Given the description of an element on the screen output the (x, y) to click on. 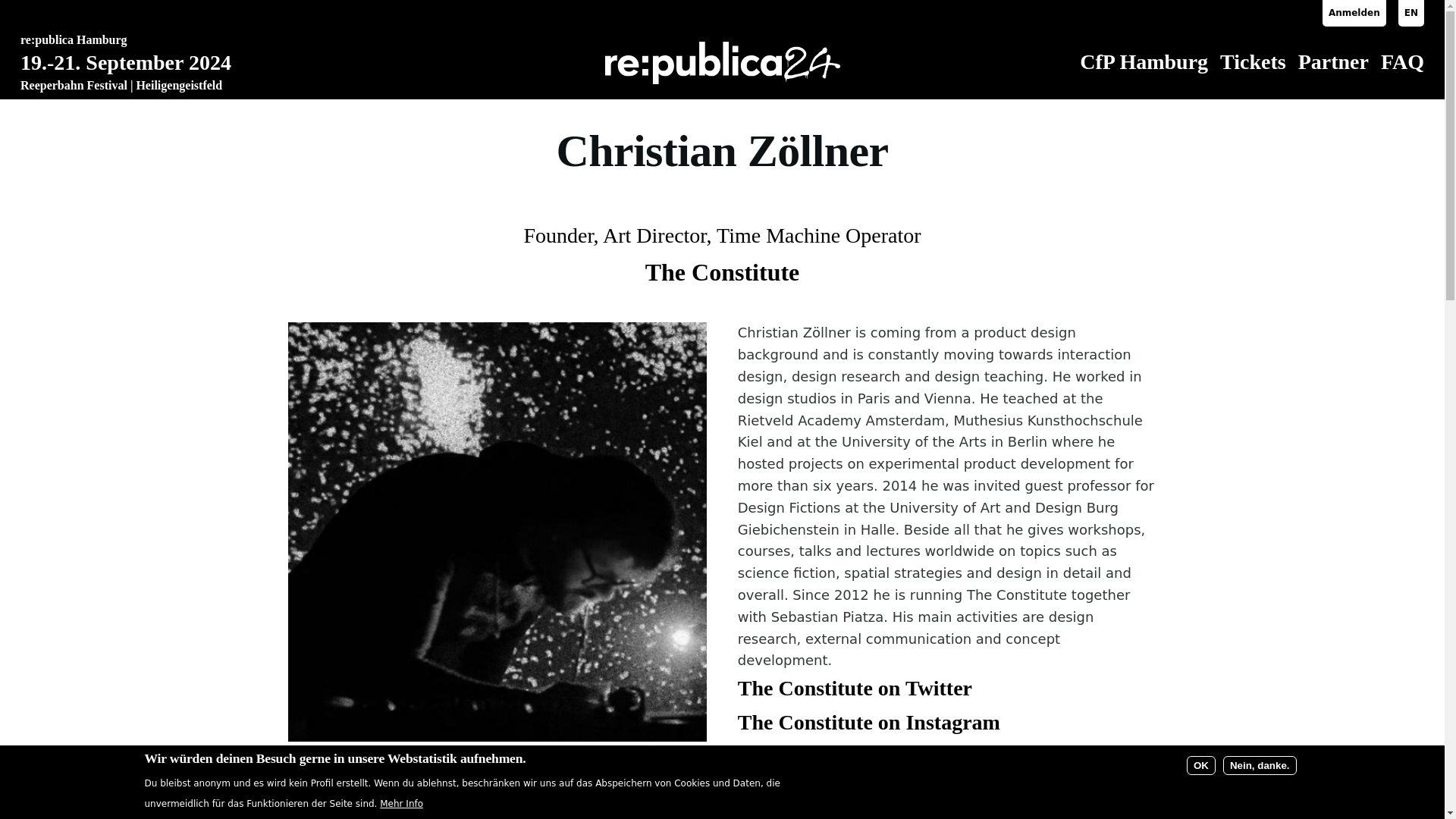
The Constitute on Facebook (865, 756)
Direkt zum Inhalt (595, 6)
FAQ (1401, 61)
Mehr Info (401, 803)
Anmelden (1354, 13)
EN (1410, 13)
OK (1200, 764)
English (1410, 13)
The Constitute on Twitter (855, 688)
The Constitute on Instagram (869, 721)
The Constitute (722, 271)
Tickets (1252, 61)
Partner (1333, 61)
Nein, danke. (1260, 764)
CfP Hamburg (1144, 61)
